Given the description of an element on the screen output the (x, y) to click on. 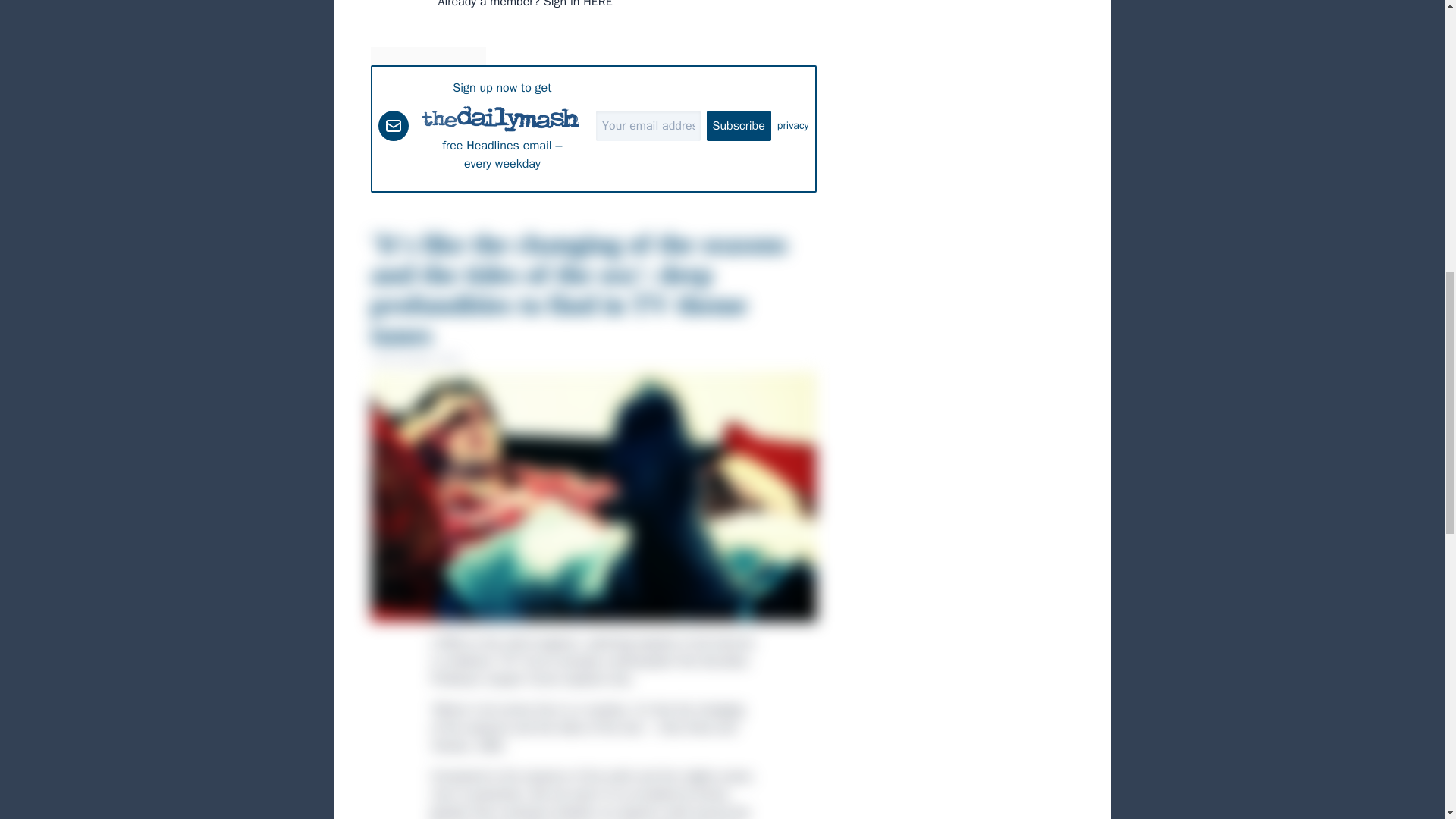
privacy (793, 125)
Subscribe (738, 125)
